Given the description of an element on the screen output the (x, y) to click on. 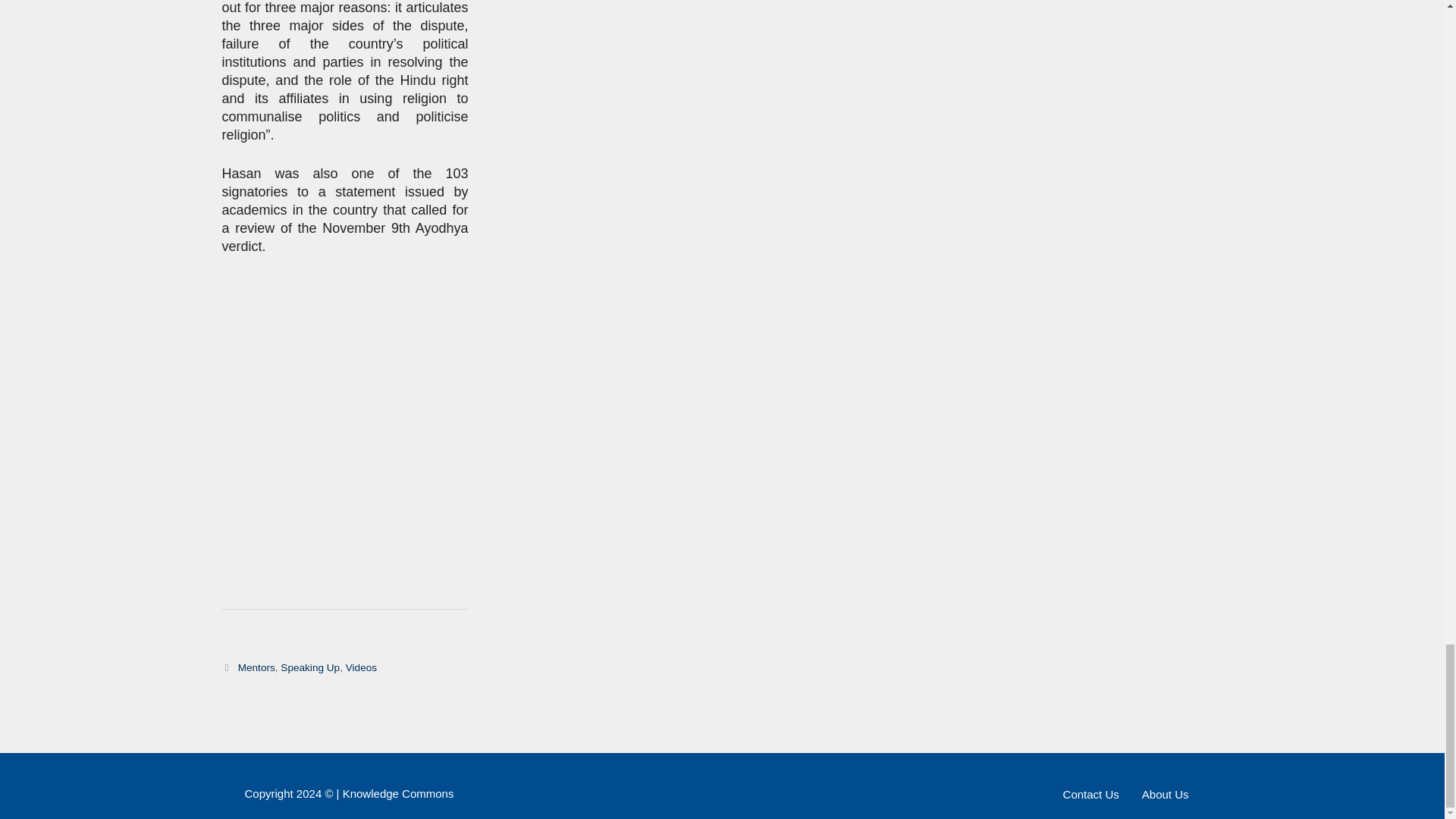
Videos (361, 667)
About Us (1165, 793)
Speaking Up (310, 667)
Mentors (256, 667)
Contact Us (1091, 793)
